Given the description of an element on the screen output the (x, y) to click on. 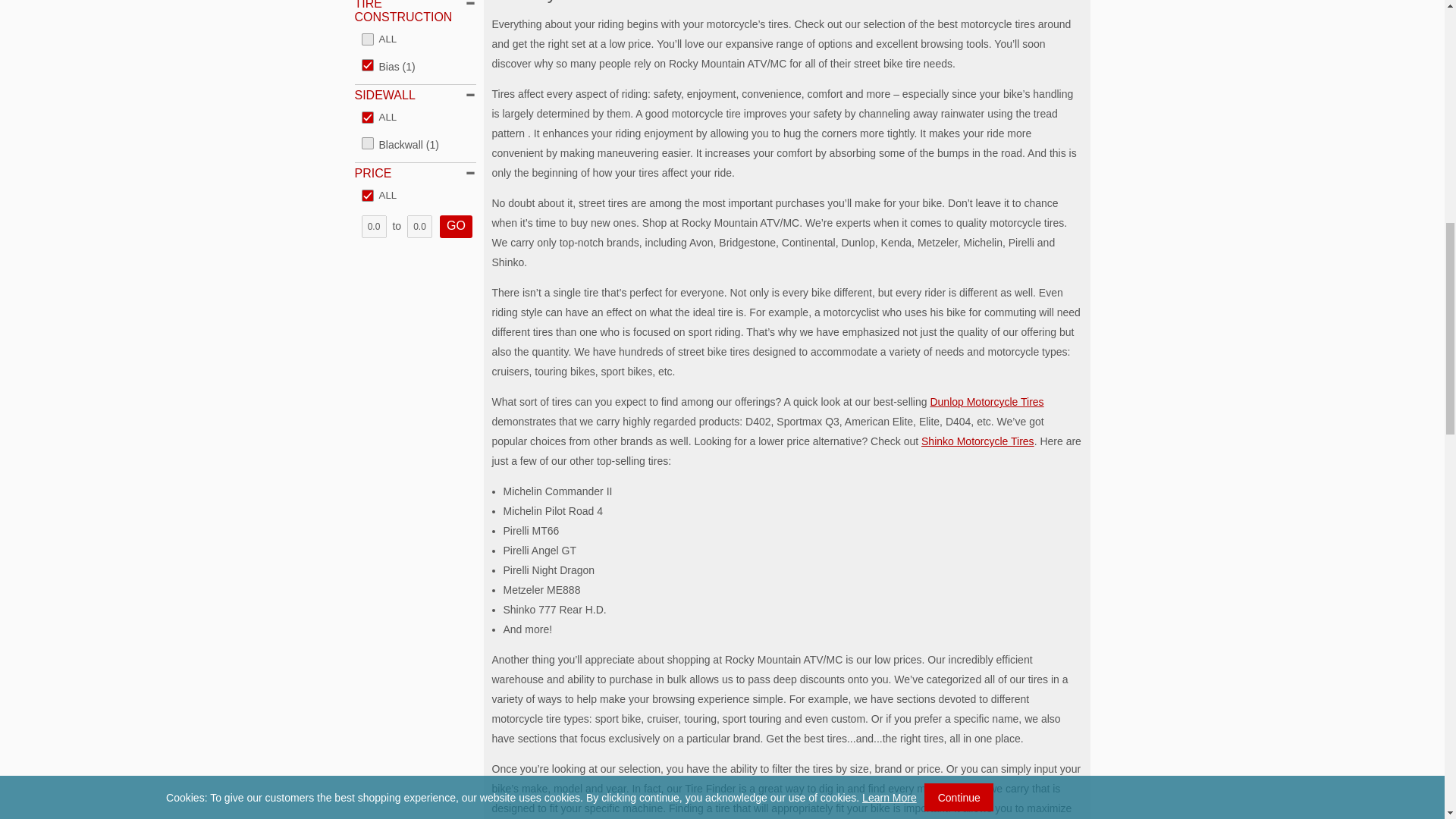
0.0 (373, 226)
0.0 (419, 226)
